Given the description of an element on the screen output the (x, y) to click on. 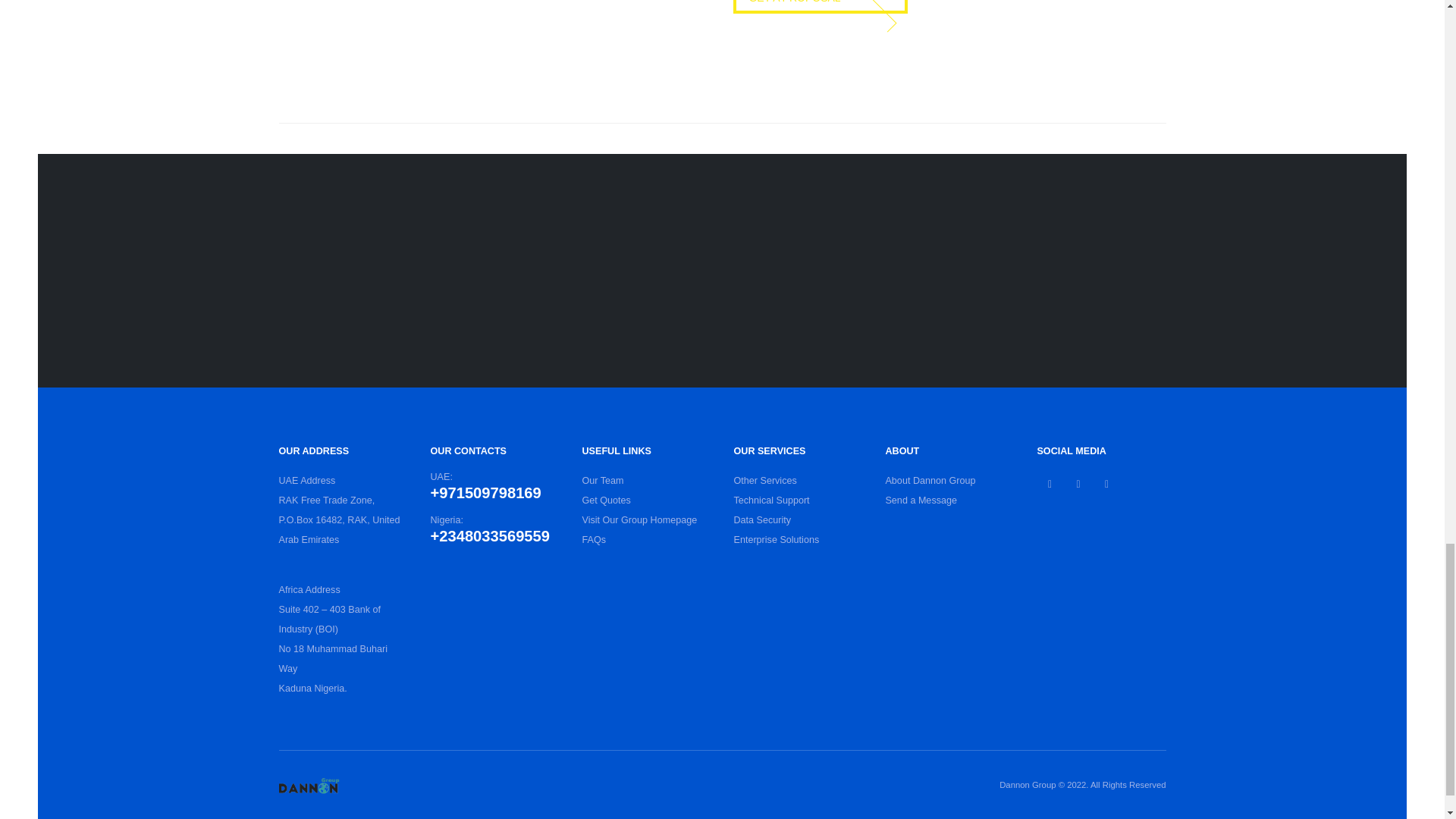
Instagram (1106, 483)
Facebook (1049, 483)
Twitter (1078, 483)
